Given the description of an element on the screen output the (x, y) to click on. 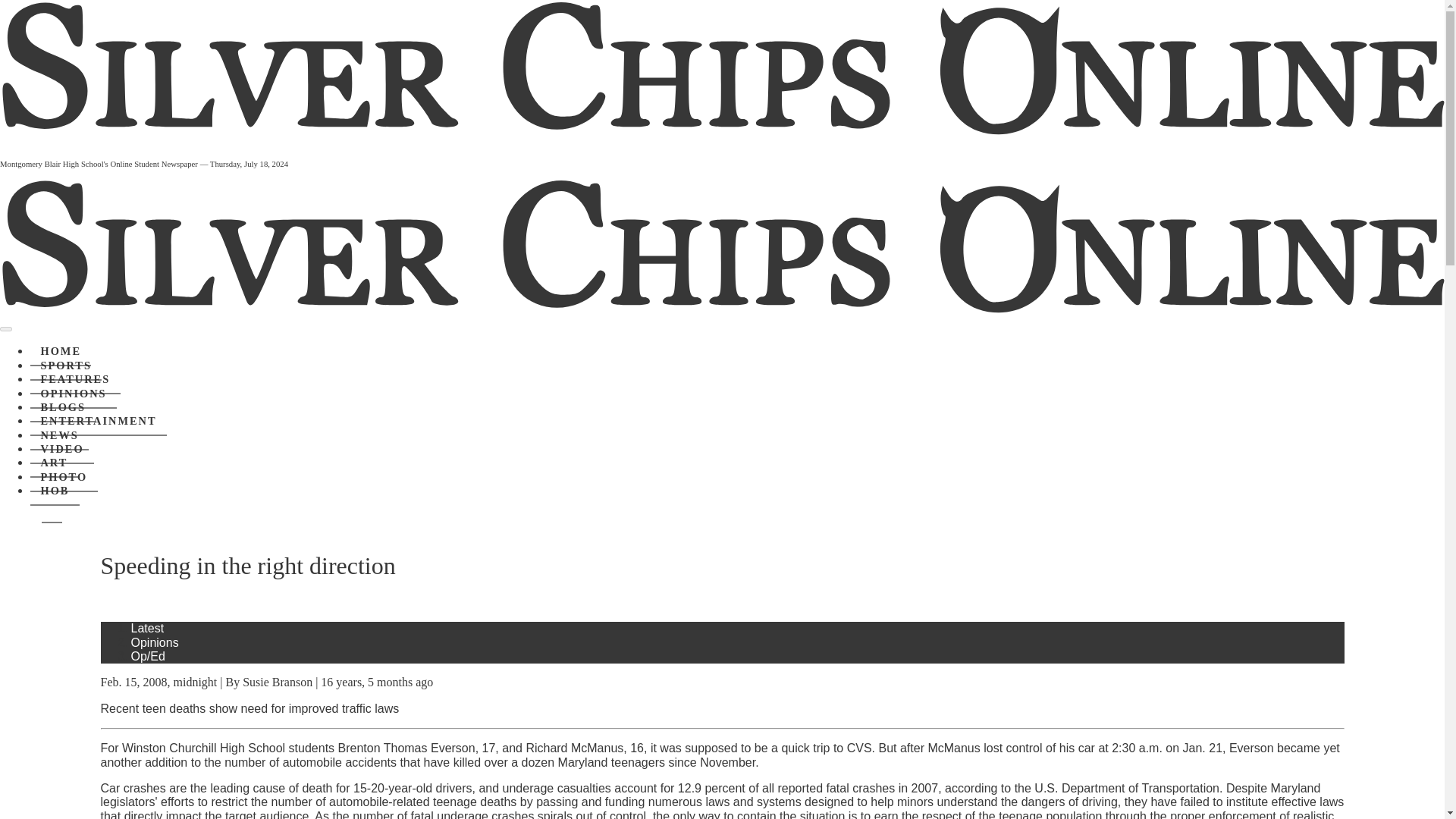
PHOTO (63, 477)
BLOGS (63, 407)
ART (54, 462)
VIDEO (62, 449)
Susie Branson (278, 681)
FEATURES (75, 379)
HOB (55, 491)
Latest (147, 627)
OPINIONS (73, 393)
HOME (60, 351)
NEWS (59, 435)
Opinions (154, 642)
SPORTS (65, 366)
ENTERTAINMENT (98, 421)
